Given the description of an element on the screen output the (x, y) to click on. 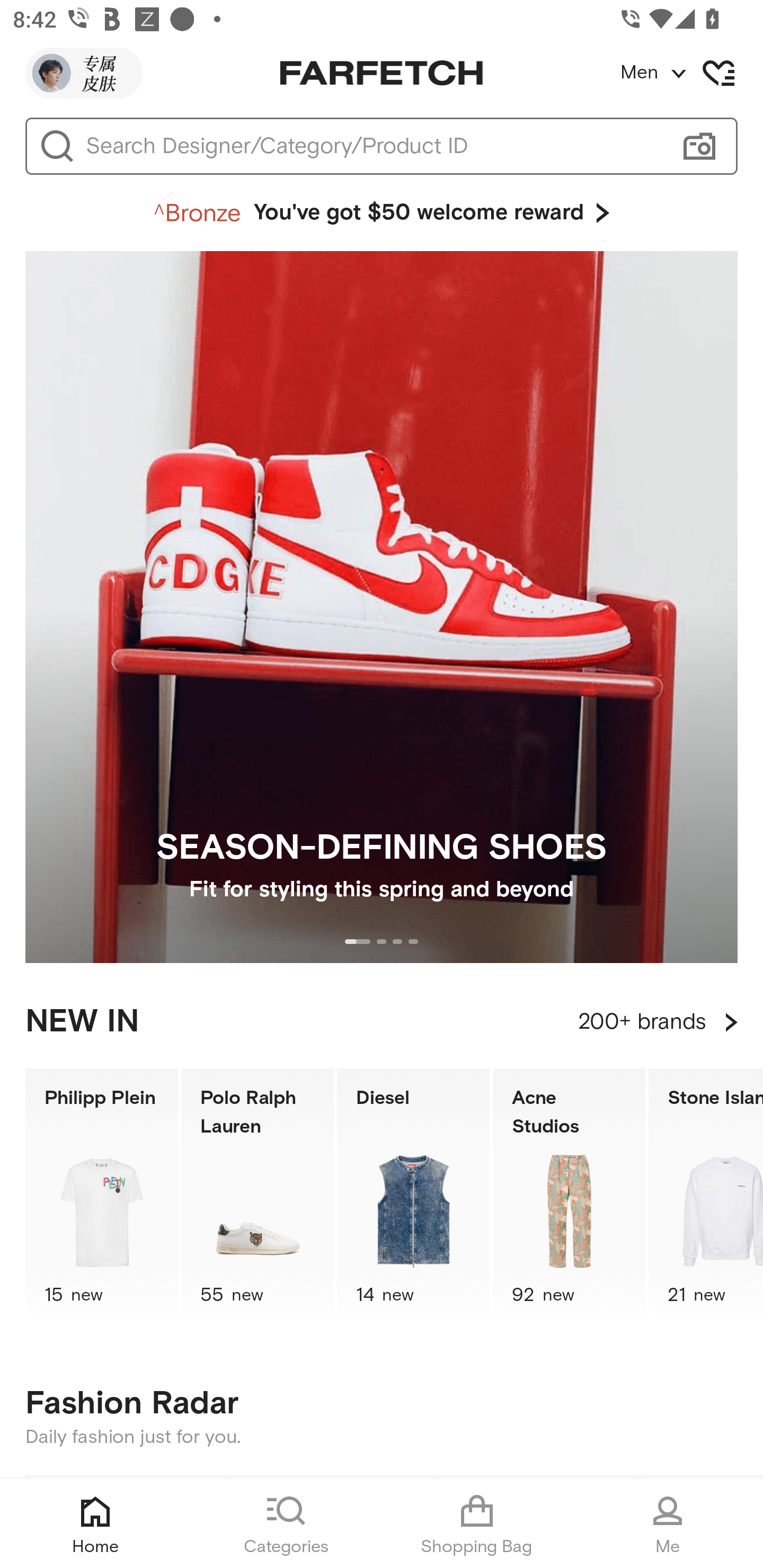
Men (691, 72)
Search Designer/Category/Product ID (373, 146)
You've got $50 welcome reward (381, 213)
NEW IN 200+ brands (381, 1021)
Philipp Plein 15  new (101, 1196)
Polo Ralph Lauren 55  new (257, 1196)
Diesel 14  new (413, 1196)
Acne Studios 92  new (568, 1196)
Stone Island 21  new (705, 1196)
Categories (285, 1523)
Shopping Bag (476, 1523)
Me (667, 1523)
